Given the description of an element on the screen output the (x, y) to click on. 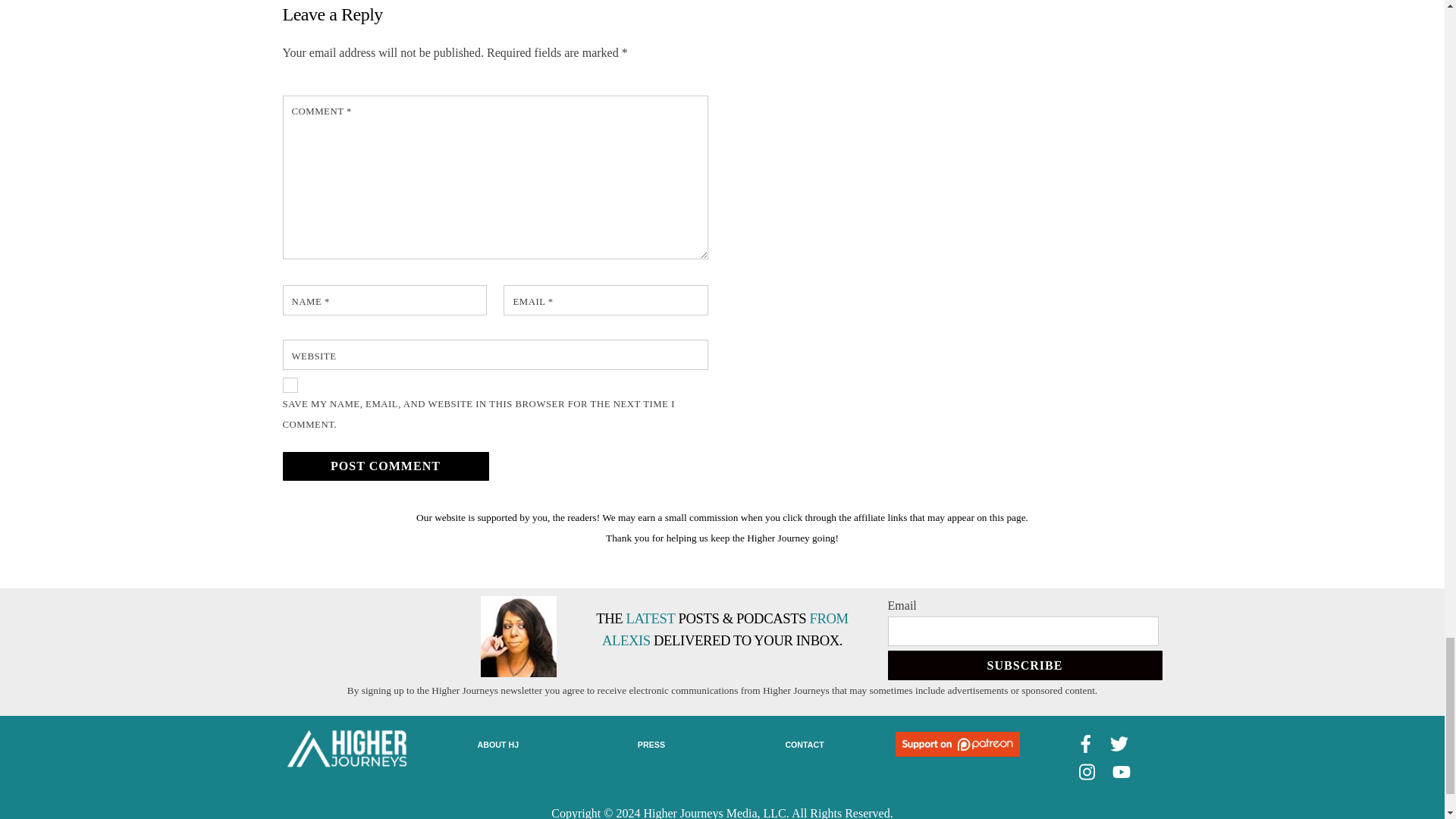
yes (289, 385)
cropped-cropped-HJlogo2021WHITE.png (346, 748)
Post Comment (384, 466)
